Given the description of an element on the screen output the (x, y) to click on. 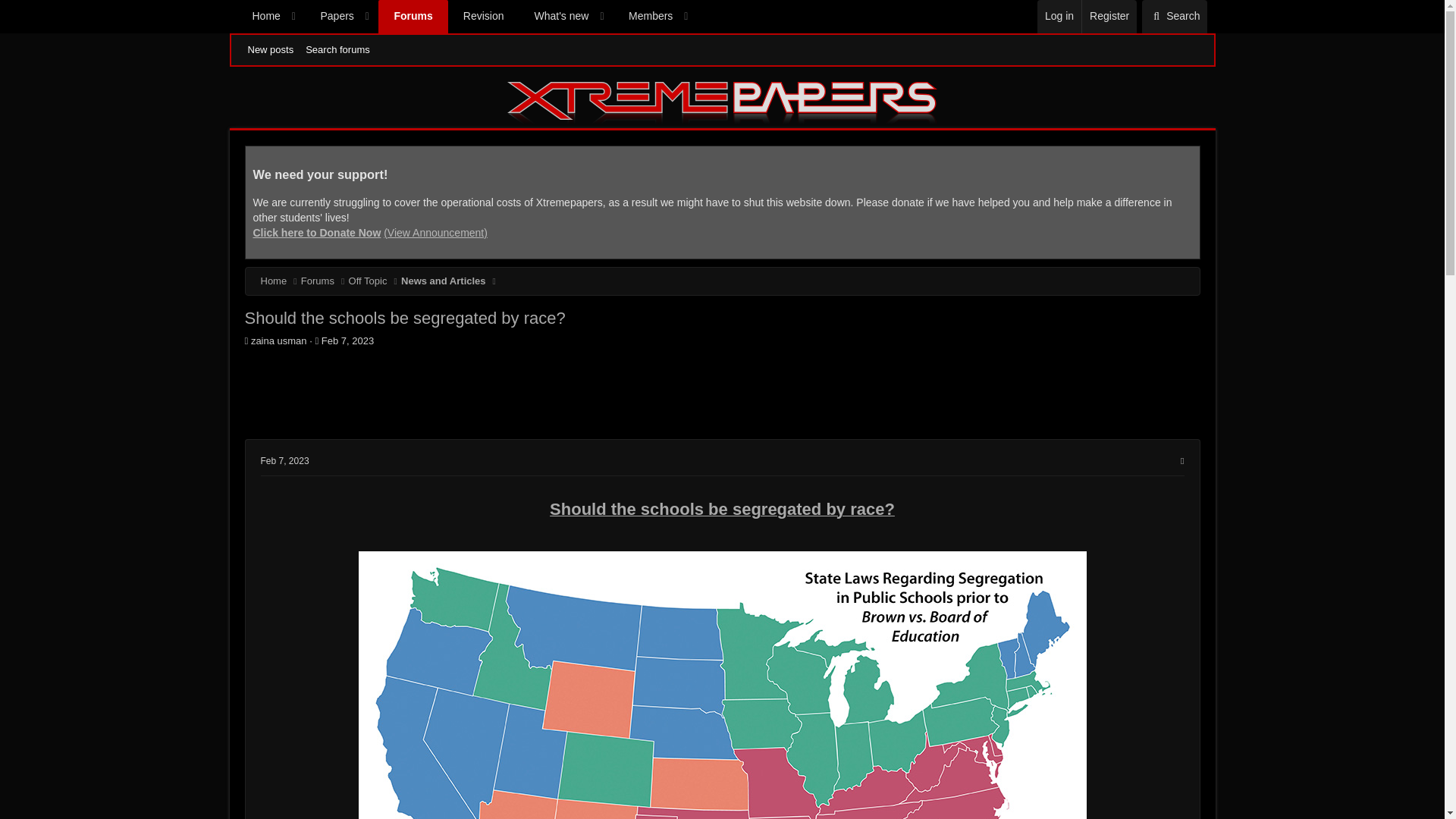
Log in (1058, 16)
Forums (466, 16)
Search (412, 16)
Papers (1174, 16)
Search forums (329, 16)
08918166994116ab52579e96168eb0ef.jpg (337, 49)
Feb 7, 2023 at 6:14 PM (1109, 16)
Revision (284, 460)
